Given the description of an element on the screen output the (x, y) to click on. 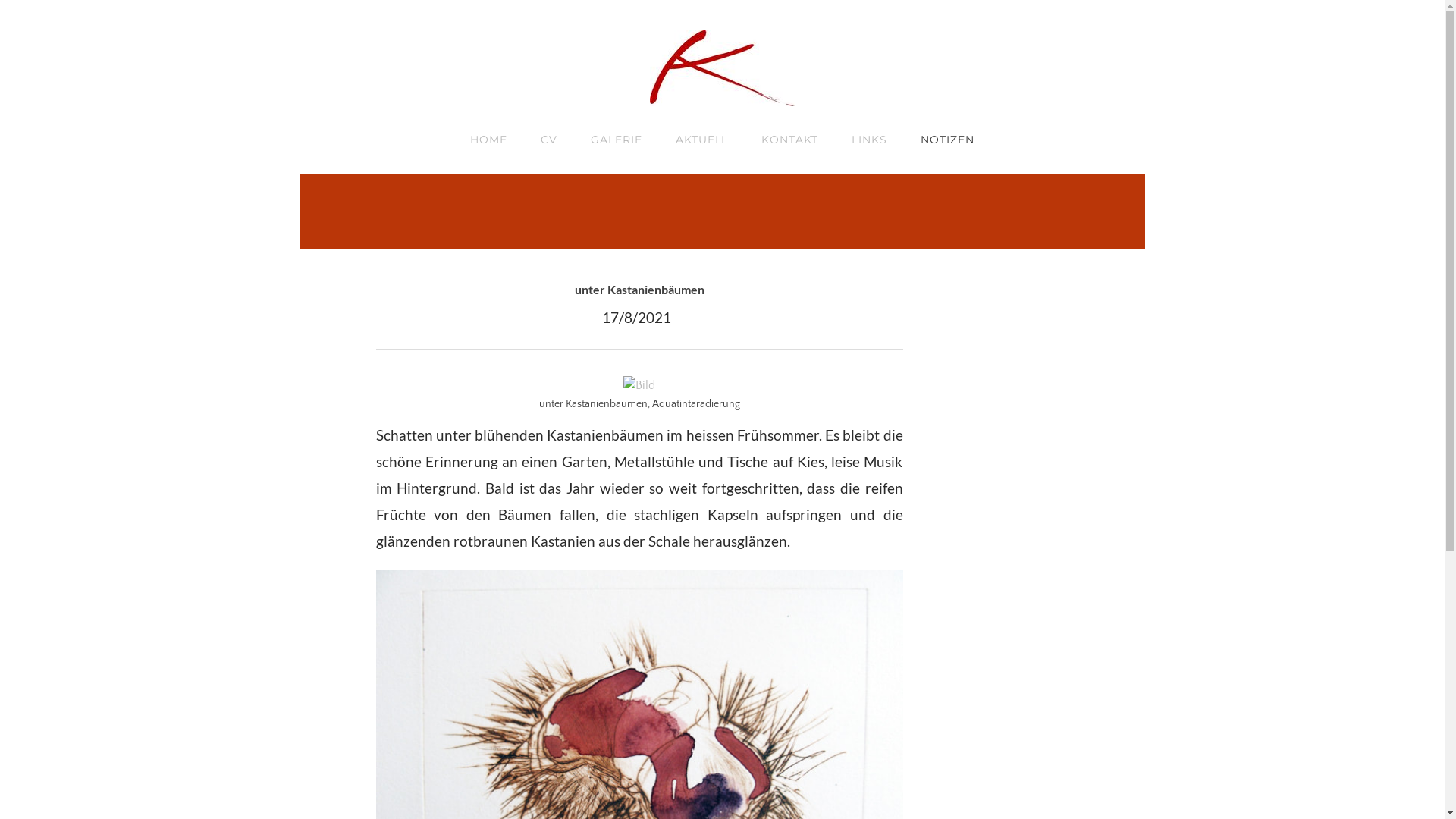
November 2022 Element type: text (977, 346)
May 2021 Element type: text (957, 426)
HOME Element type: text (488, 139)
CV Element type: text (548, 139)
KONTAKT Element type: text (789, 139)
NOTIZEN Element type: text (947, 139)
LINKS Element type: text (869, 139)
February 2022 Element type: text (972, 373)
AKTUELL Element type: text (702, 139)
August 2021 Element type: text (966, 399)
GALERIE Element type: text (616, 139)
